Given the description of an element on the screen output the (x, y) to click on. 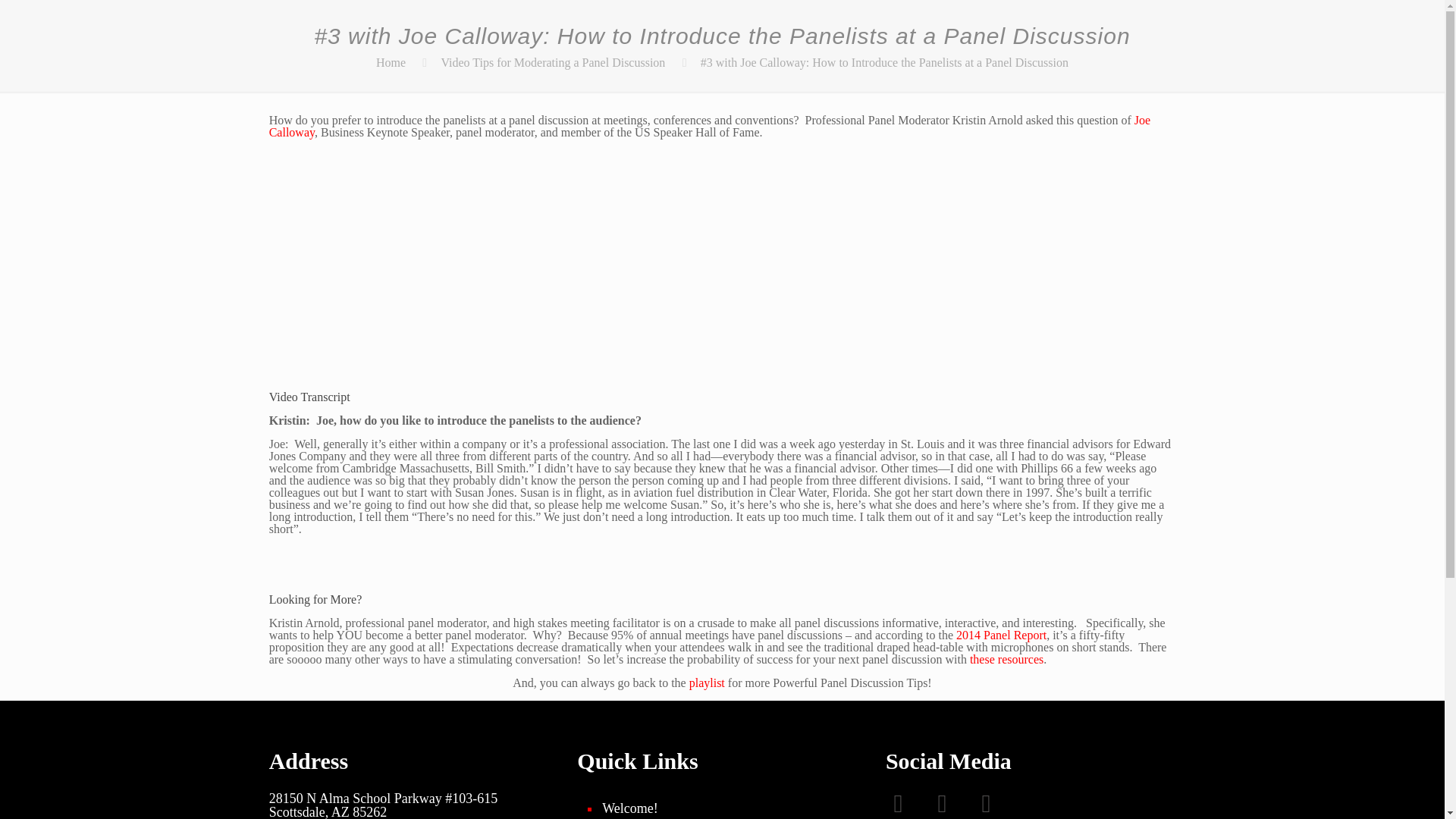
Twitter (952, 805)
YouTube (995, 805)
Facebook (907, 805)
